Given the description of an element on the screen output the (x, y) to click on. 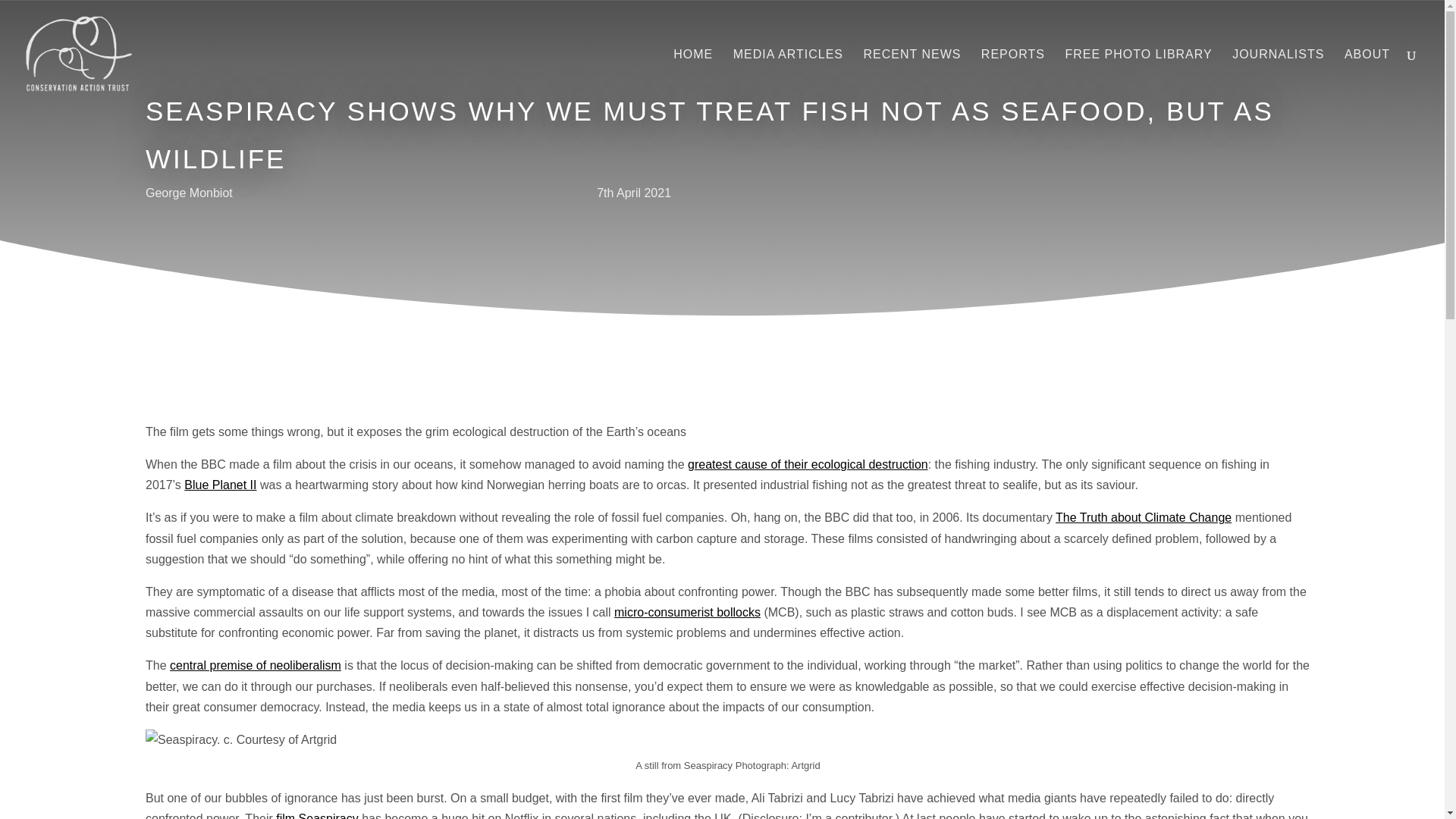
The Truth about Climate Change (1143, 517)
film Seaspiracy (317, 815)
RECENT NEWS (911, 78)
FREE PHOTO LIBRARY (1137, 78)
Blue Planet II (220, 484)
micro-consumerist bollocks (687, 612)
REPORTS (1013, 78)
greatest cause of their ecological destruction (807, 463)
JOURNALISTS (1277, 78)
central premise of neoliberalism (255, 665)
MEDIA ARTICLES (788, 78)
